Given the description of an element on the screen output the (x, y) to click on. 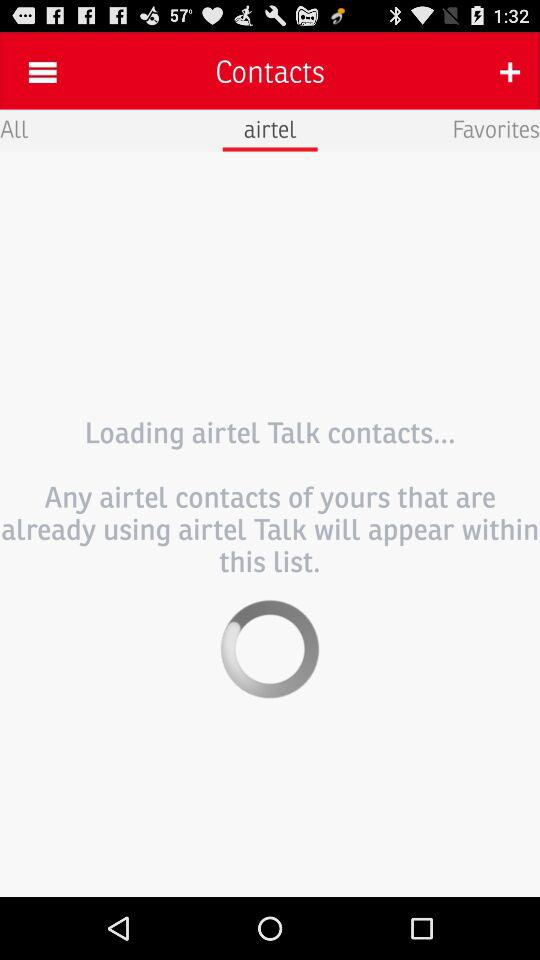
turn off app above loading airtel talk item (14, 128)
